Given the description of an element on the screen output the (x, y) to click on. 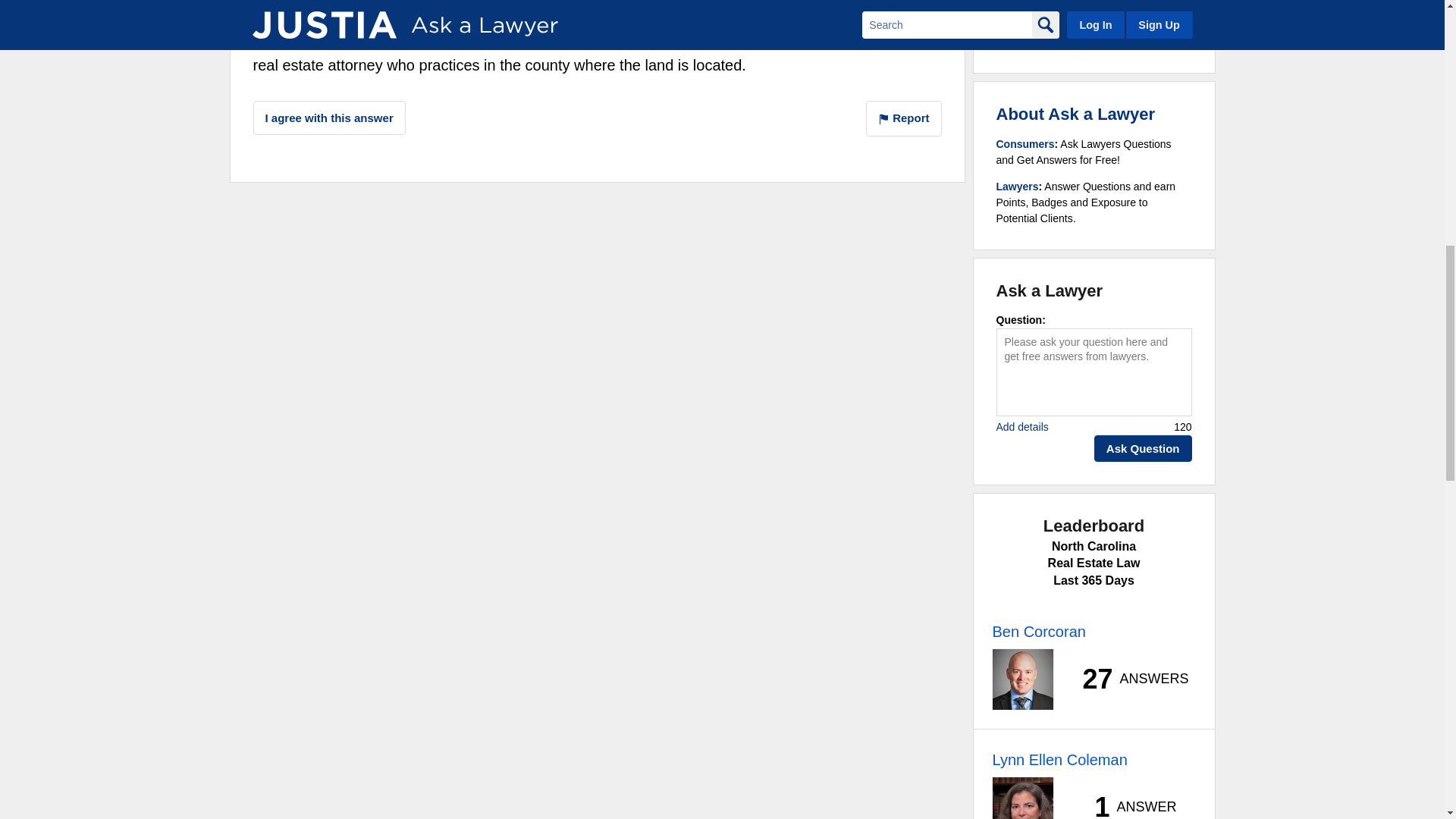
I agree with this answer (329, 117)
Ask a Lawyer - Leaderboard - Lawyer Photo (1021, 798)
Ask a Lawyer - Leaderboard - Lawyer Name (1037, 630)
Ask a Lawyer - Leaderboard - Lawyer Stats (1127, 678)
Report (904, 118)
Ask a Lawyer - FAQs - Lawyers (1017, 186)
Ask a Lawyer - Leaderboard - Lawyer Photo (1021, 679)
Ask a Lawyer - Leaderboard - Lawyer Name (1058, 759)
Ask a Lawyer - FAQs - Consumers (1024, 143)
Ask a Lawyer - Leaderboard - Lawyer Stats (1127, 806)
